Given the description of an element on the screen output the (x, y) to click on. 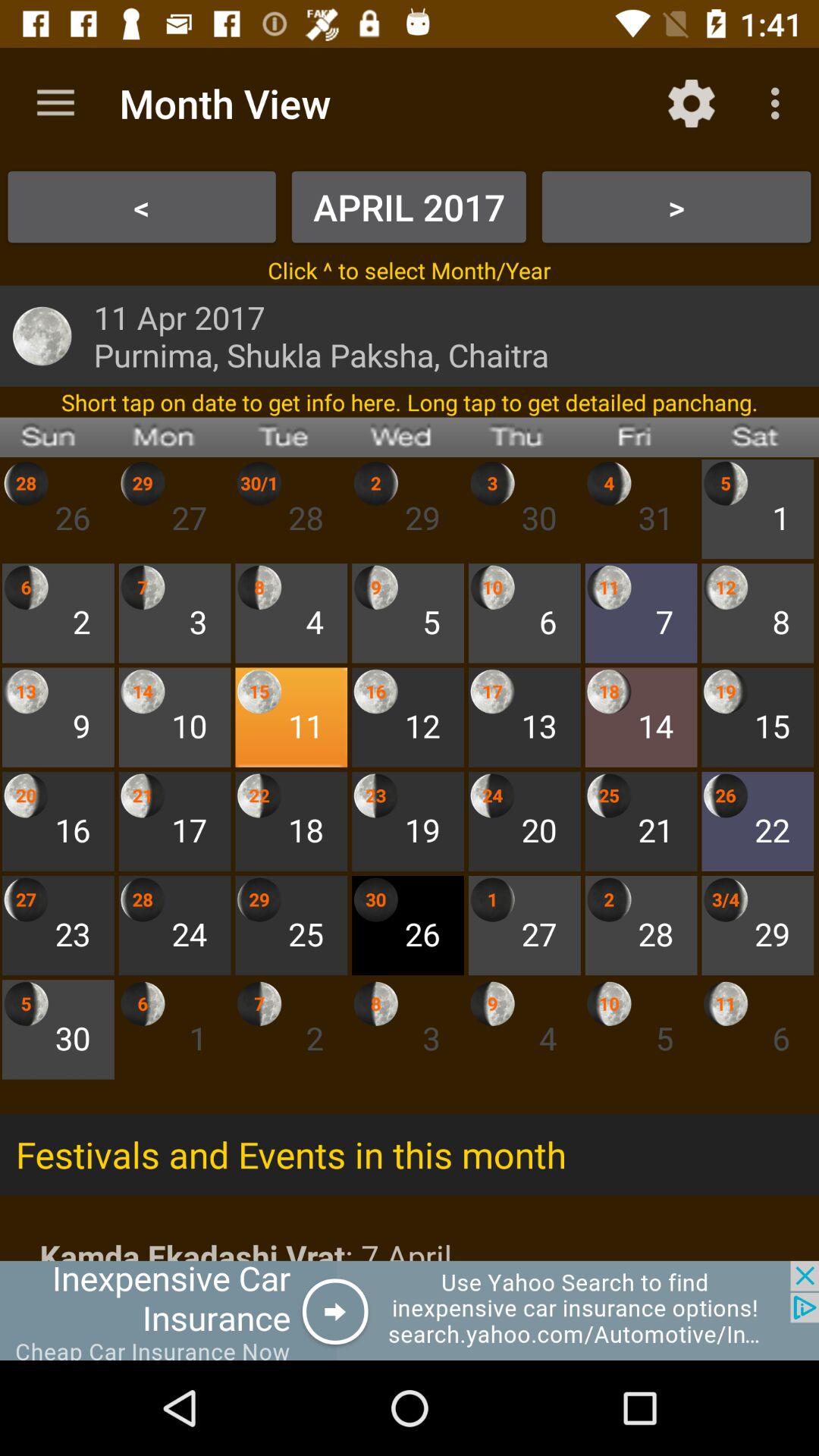
open advertisement (409, 1310)
